Given the description of an element on the screen output the (x, y) to click on. 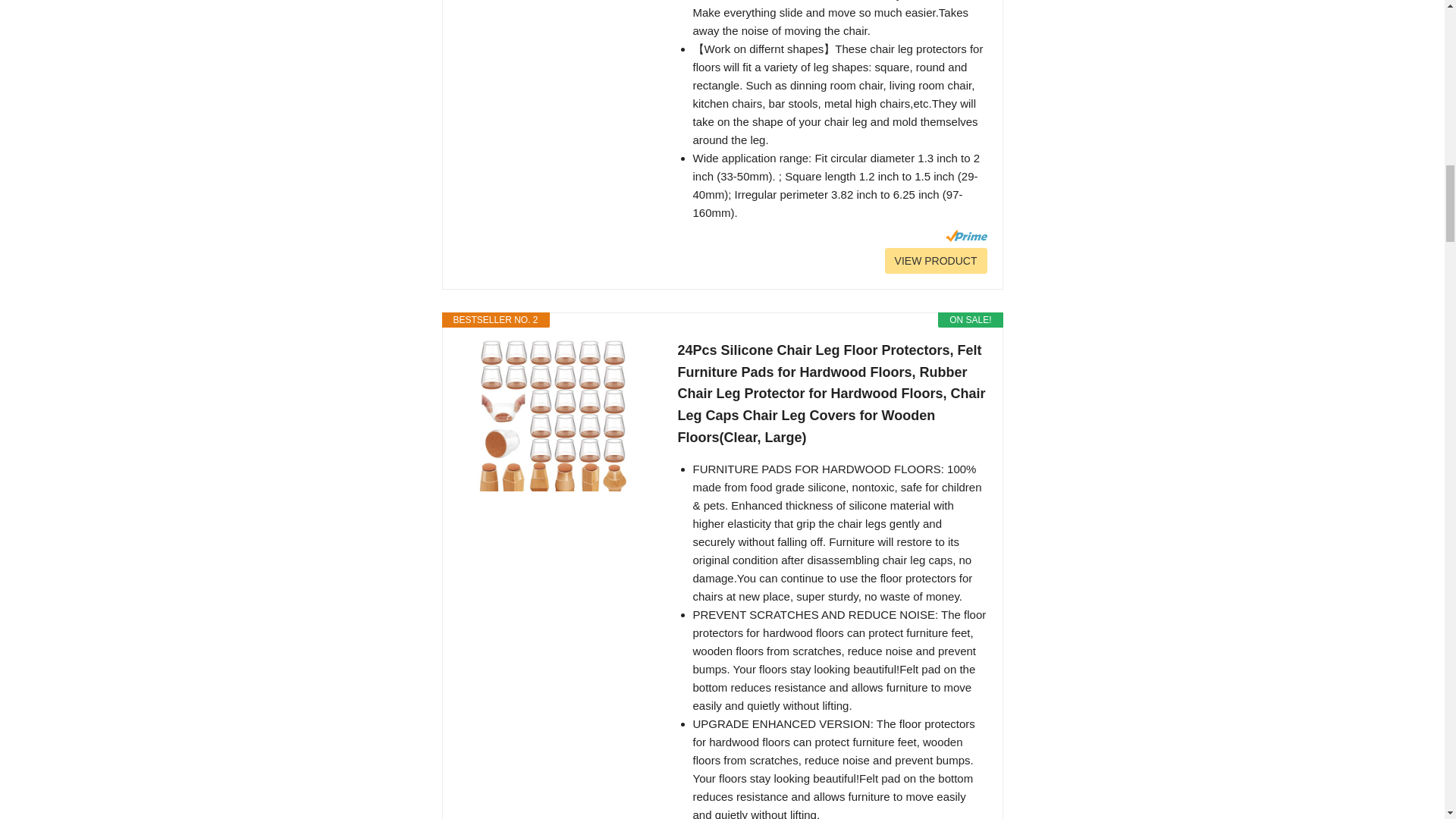
VIEW PRODUCT (936, 260)
